Given the description of an element on the screen output the (x, y) to click on. 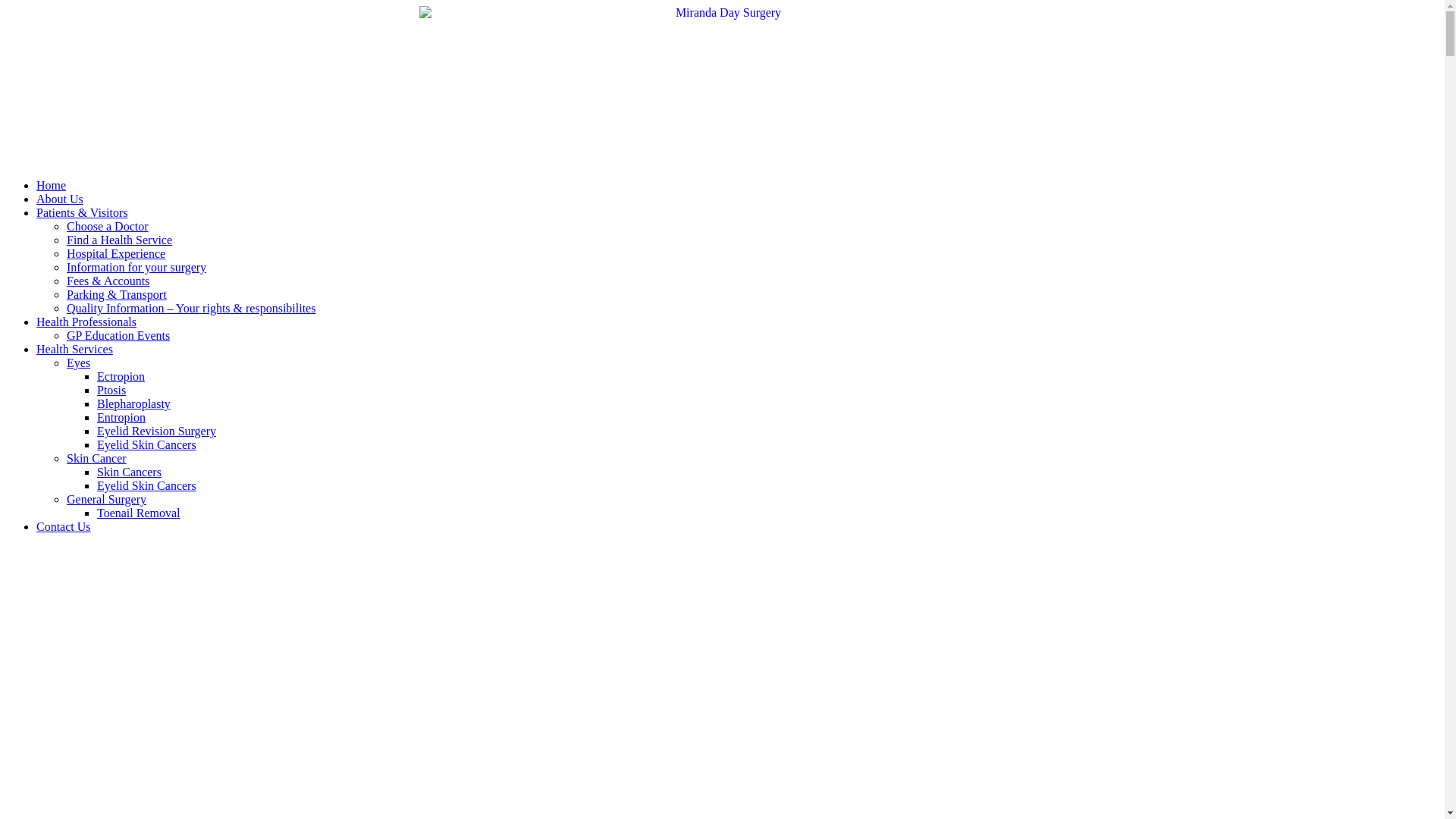
Home Element type: text (50, 184)
Choose a Doctor Element type: text (107, 225)
Information for your surgery Element type: text (136, 266)
Eyelid Revision Surgery Element type: text (156, 430)
Skin Cancers Element type: text (129, 471)
About Us Element type: text (59, 198)
Ptosis Element type: text (111, 389)
Toenail Removal Element type: text (138, 512)
Find a Health Service Element type: text (119, 239)
Skip to content Element type: text (5, 5)
Eyelid Skin Cancers Element type: text (146, 444)
General Surgery Element type: text (106, 498)
Ectropion Element type: text (120, 376)
Blepharoplasty Element type: text (133, 403)
Parking & Transport Element type: text (116, 294)
GP Education Events Element type: text (117, 335)
Skin Cancer Element type: text (96, 457)
Health Professionals Element type: text (86, 321)
Contact Us Element type: text (63, 526)
Health Services Element type: text (74, 348)
Fees & Accounts Element type: text (107, 280)
Patients & Visitors Element type: text (82, 212)
Eyes Element type: text (78, 362)
Hospital Experience Element type: text (115, 253)
Entropion Element type: text (121, 417)
Eyelid Skin Cancers Element type: text (146, 485)
